Given the description of an element on the screen output the (x, y) to click on. 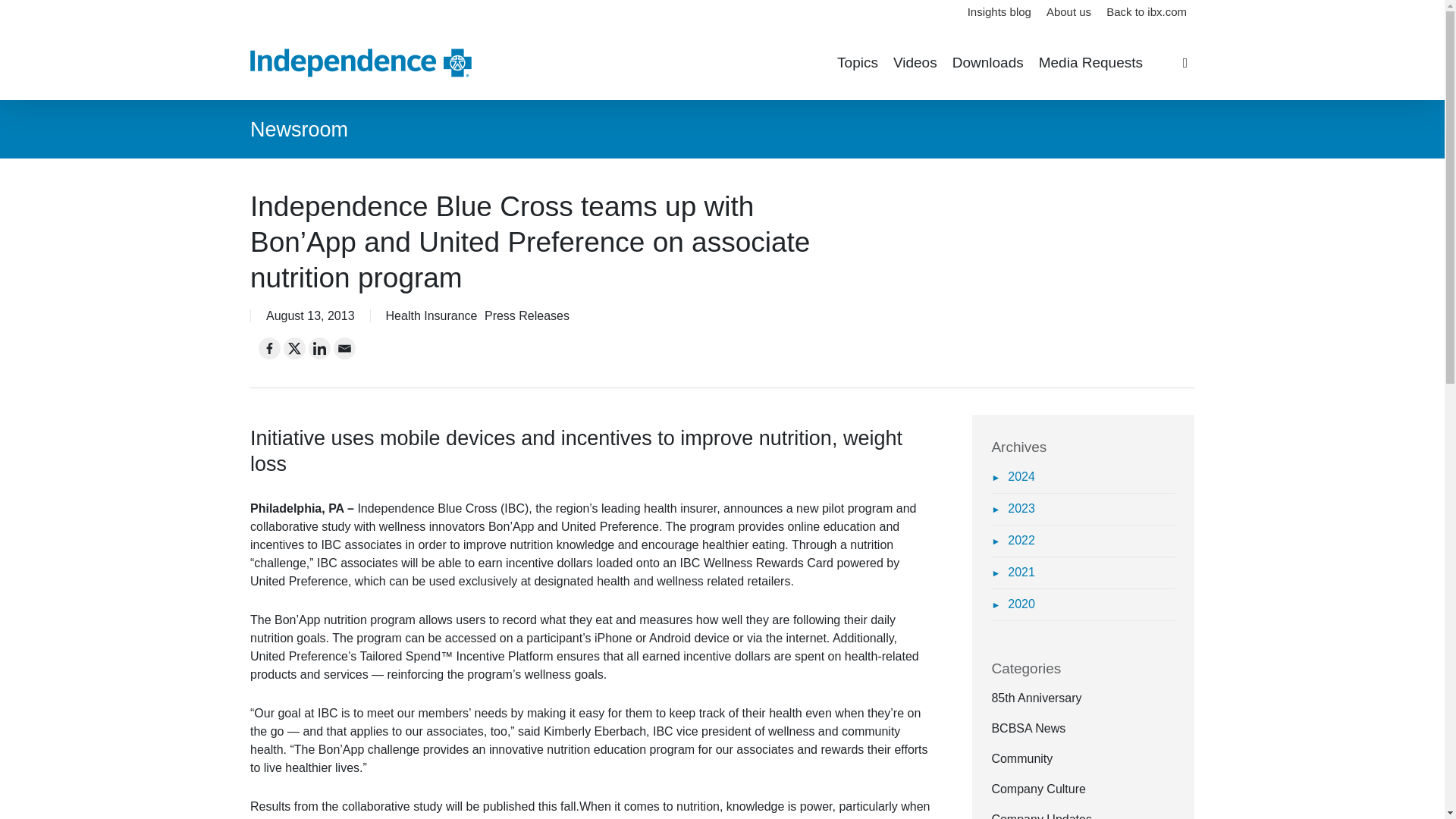
2024 (1012, 476)
Topics (857, 62)
Facebook (270, 348)
Linkedin (319, 348)
Videos (915, 62)
X (294, 348)
search (1184, 62)
Downloads (987, 62)
Back to ibx.com (1146, 11)
About us (1069, 11)
